Given the description of an element on the screen output the (x, y) to click on. 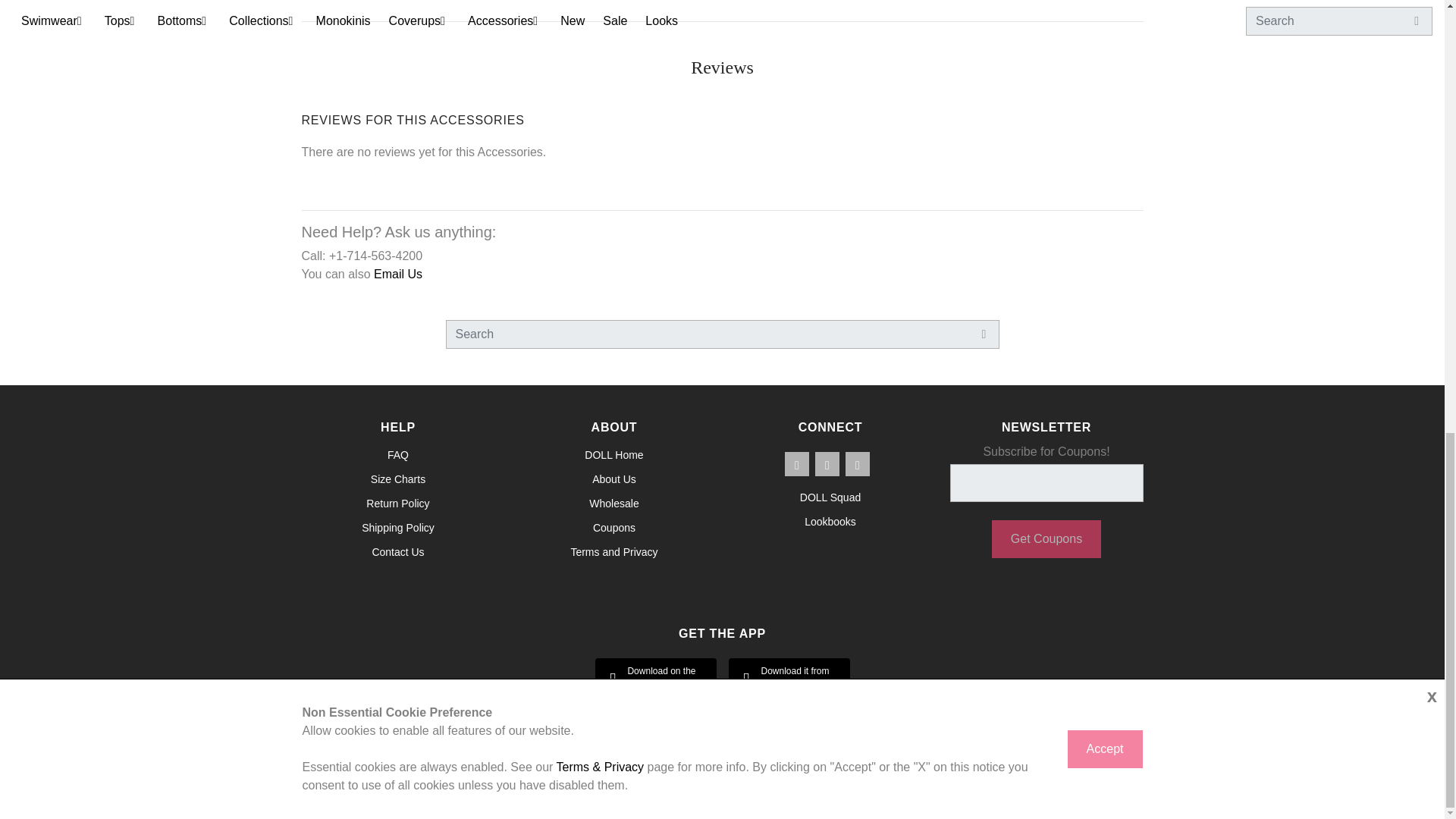
Get Coupons (1045, 538)
